Given the description of an element on the screen output the (x, y) to click on. 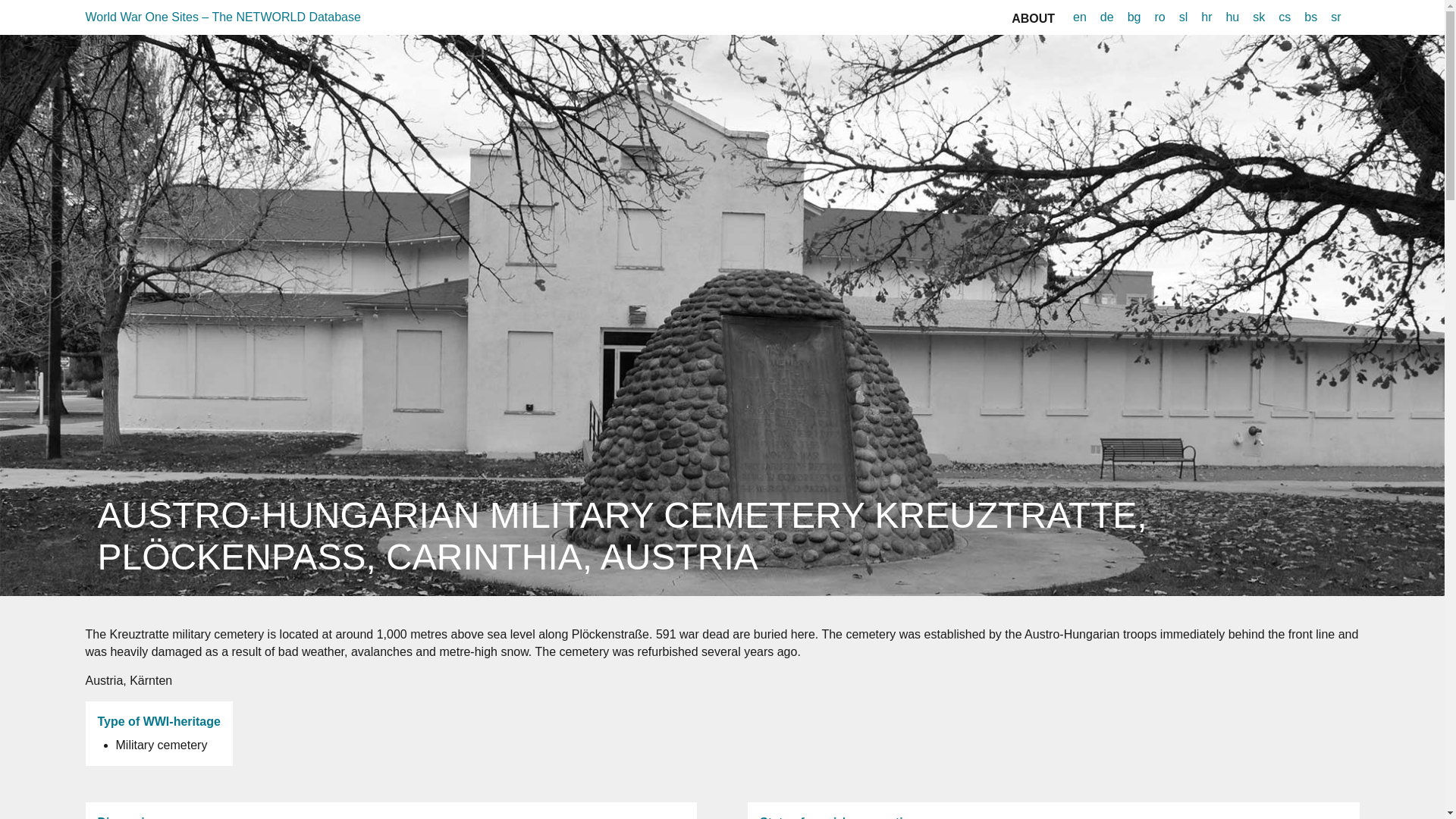
cs (1284, 16)
ABOUT (1032, 18)
sk (1258, 16)
hr (1206, 16)
en (1080, 16)
Startpage of NETWORLD Database (221, 16)
de (1106, 16)
sr (1335, 16)
About (1032, 18)
bs (1310, 16)
ro (1159, 16)
bg (1134, 16)
hu (1232, 16)
sl (1183, 16)
